Given the description of an element on the screen output the (x, y) to click on. 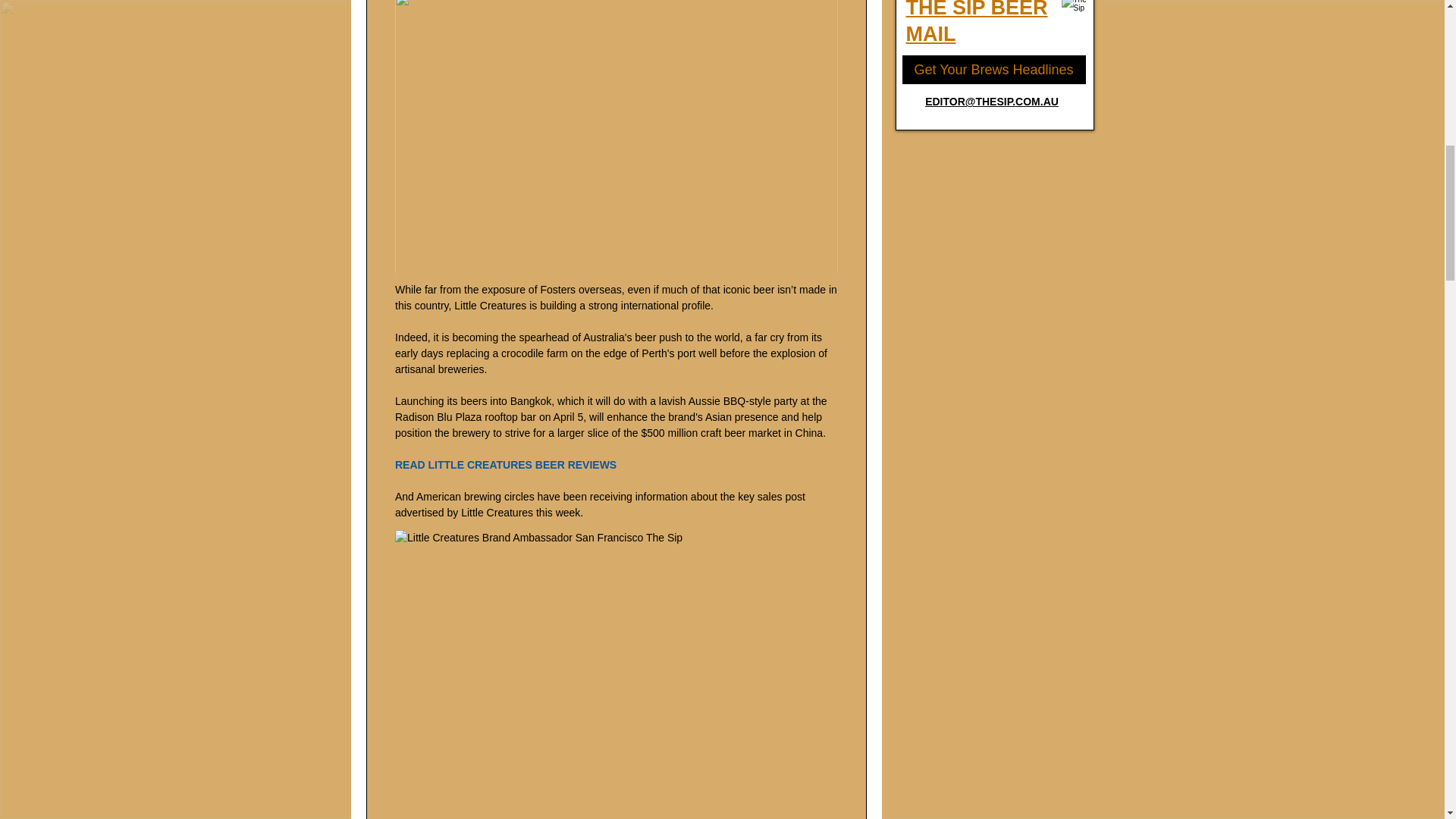
READ LITTLE CREATURES BEER REVIEWS (504, 464)
THE SIP BEER MAIL (975, 22)
The Sip Black 75.jpg (1075, 11)
Get Your Brews Headlines (993, 69)
